Given the description of an element on the screen output the (x, y) to click on. 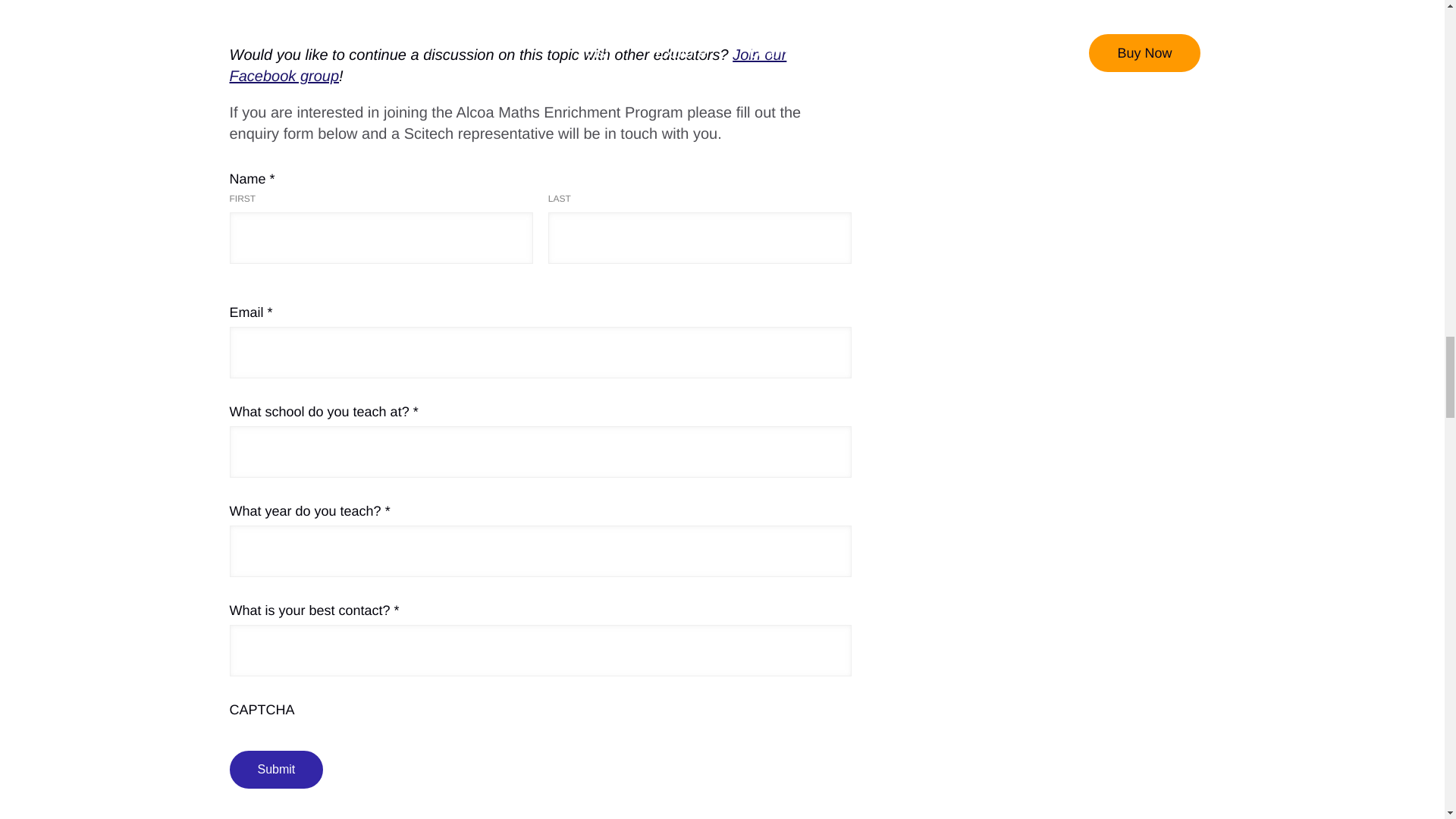
Submit (275, 769)
